Given the description of an element on the screen output the (x, y) to click on. 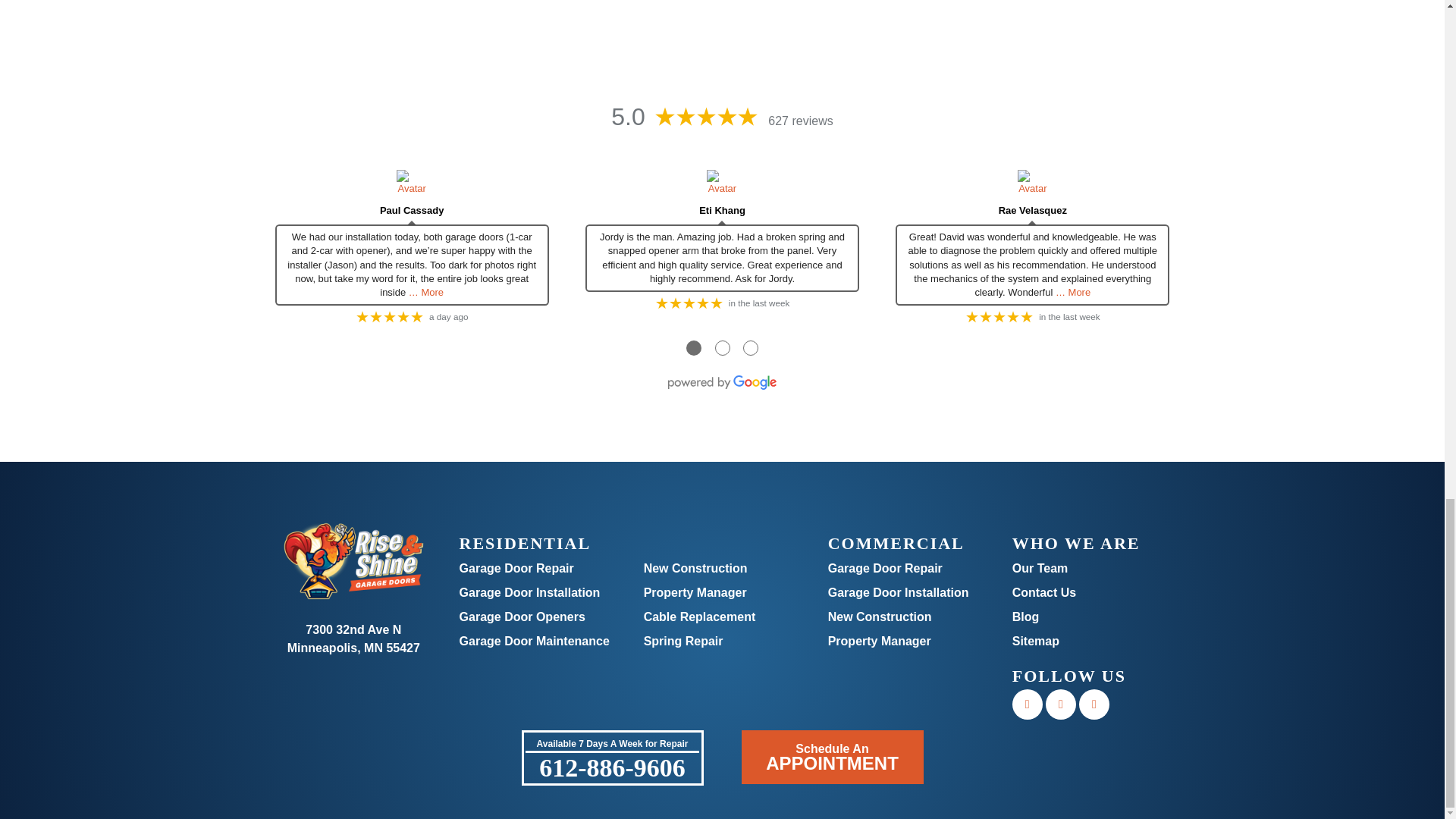
Powered by Google (722, 382)
